Given the description of an element on the screen output the (x, y) to click on. 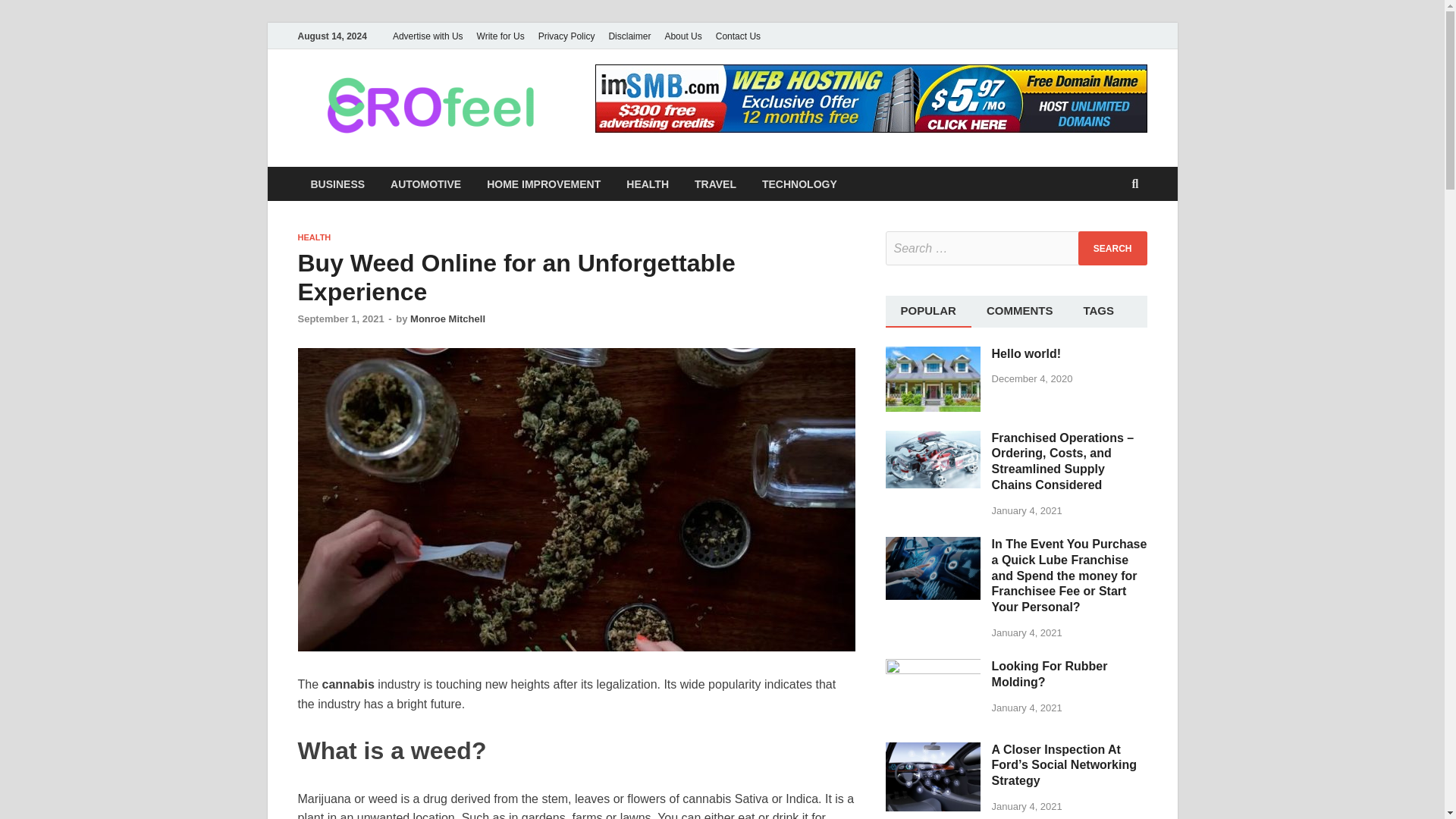
TRAVEL (715, 183)
HEALTH (313, 236)
Write for Us (500, 35)
HOME IMPROVEMENT (543, 183)
AUTOMOTIVE (425, 183)
Disclaimer (629, 35)
Hello world! (932, 354)
Looking For Rubber Molding? (932, 667)
Privacy Policy (566, 35)
